Given the description of an element on the screen output the (x, y) to click on. 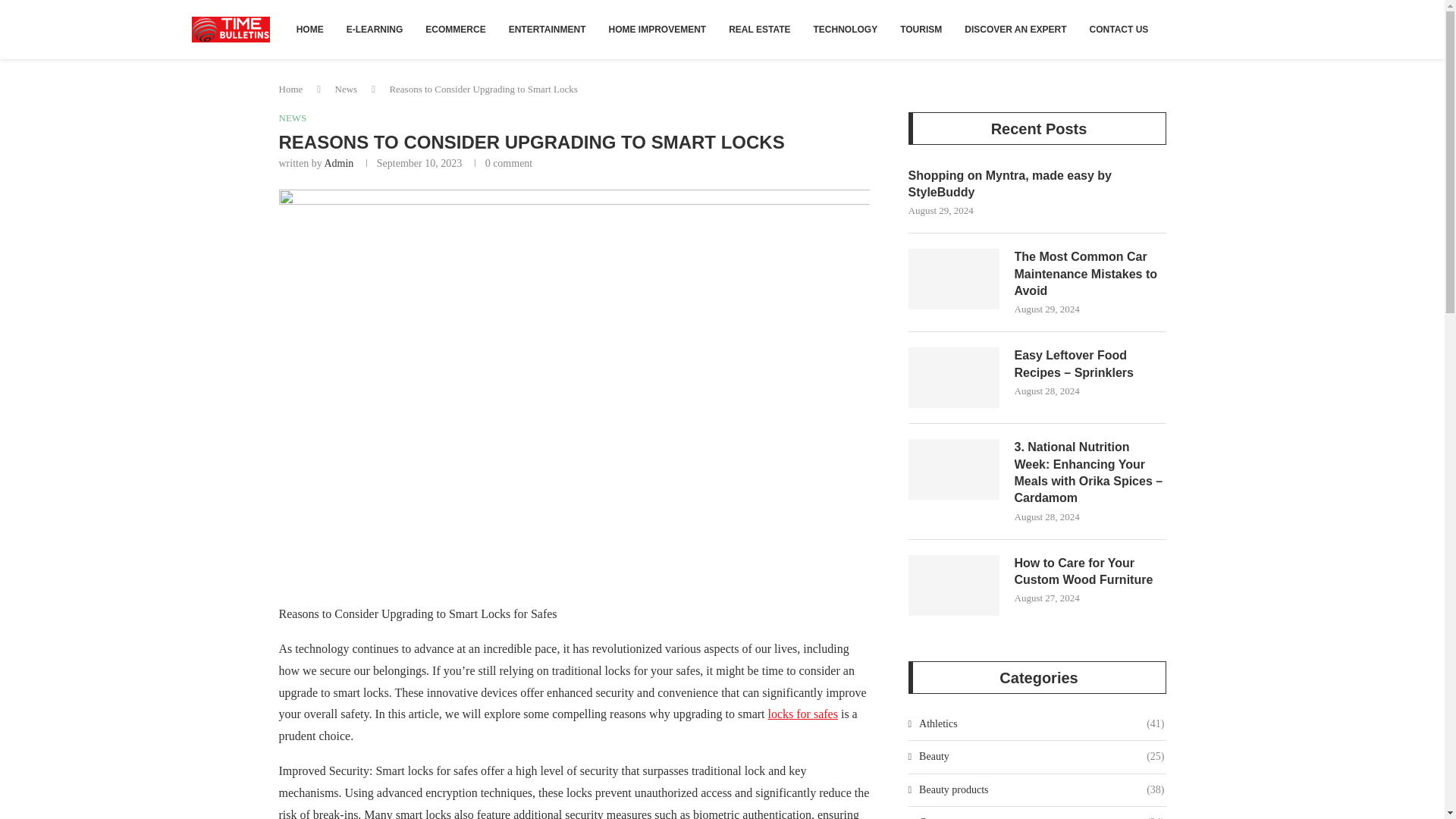
HOME IMPROVEMENT (656, 29)
TECHNOLOGY (845, 29)
ENTERTAINMENT (546, 29)
Search (1205, 7)
HOME (309, 29)
REAL ESTATE (759, 29)
ECOMMERCE (454, 29)
E-LEARNING (374, 29)
TOURISM (920, 29)
DISCOVER AN EXPERT (1015, 29)
